Given the description of an element on the screen output the (x, y) to click on. 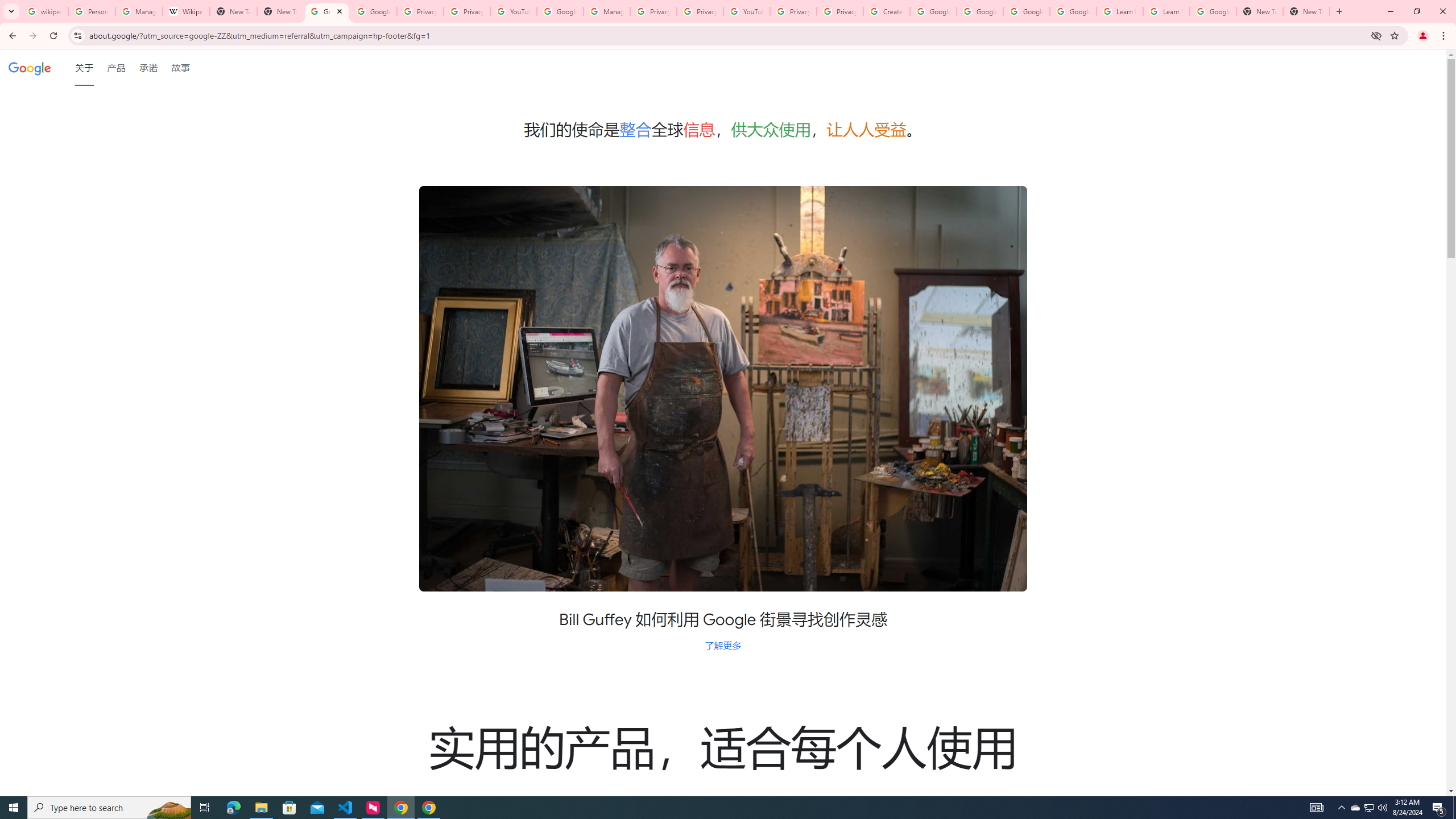
Google Account Help (933, 11)
New Tab (1306, 11)
New Tab (279, 11)
Bookmark this tab (1393, 35)
Wikipedia:Edit requests - Wikipedia (186, 11)
Close (339, 11)
Address and search bar (726, 35)
Google Account Help (1073, 11)
Minimize (1390, 11)
Manage your Location History - Google Search Help (138, 11)
Third-party cookies blocked (1376, 35)
Google (29, 67)
